Given the description of an element on the screen output the (x, y) to click on. 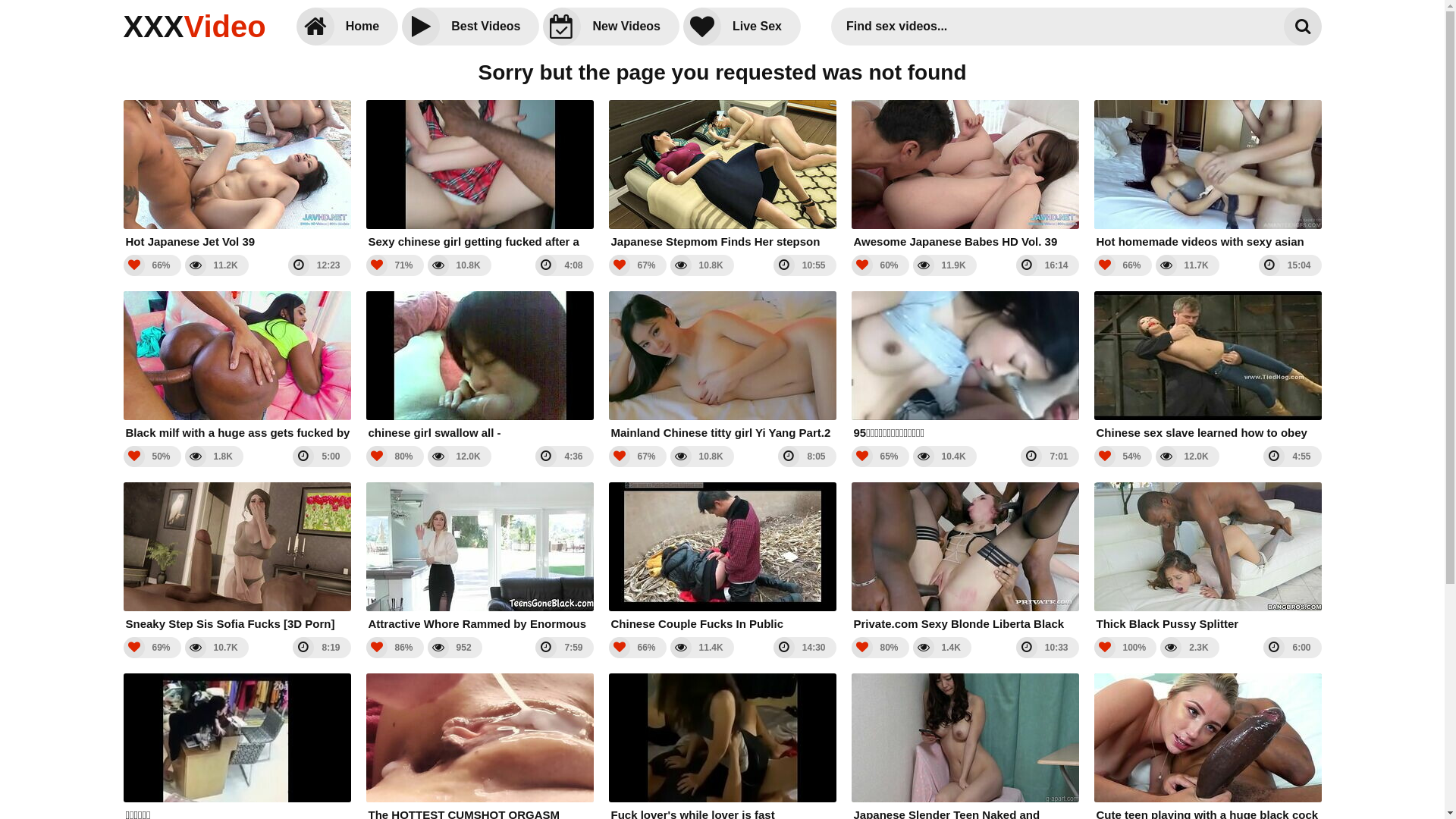
New Videos Element type: text (610, 26)
Black milf with a huge ass gets fucked by a black cock Element type: text (236, 365)
Private.com Sexy Blonde Liberta Black Takes Turns On 4 BBCs! Element type: text (964, 556)
chinese girl swallow all - www.CamSwallow.com Element type: text (479, 365)
Sexy chinese girl getting fucked after a party Element type: text (479, 174)
Hot Japanese Jet Vol 39 Element type: text (236, 174)
Home Element type: text (347, 26)
XXXVideo Element type: text (193, 26)
Hot homemade videos with sexy asian girls Element type: text (1207, 174)
Attractive Whore Rammed by Enormous Dick Black Guy Element type: text (479, 556)
Search Element type: hover (1302, 26)
Best Videos Element type: text (470, 26)
Chinese sex slave learned how to obey Element type: text (1207, 365)
Awesome Japanese Babes HD Vol. 39 Element type: text (964, 174)
Sneaky Step Sis Sofia Fucks [3D Porn] Element type: text (236, 556)
Mainland Chinese titty girl Yi Yang Part.2 Element type: text (721, 365)
Chinese Couple Fucks In Public Element type: text (721, 556)
Live Sex Element type: text (741, 26)
Thick Black Pussy Splitter Element type: text (1207, 556)
